Given the description of an element on the screen output the (x, y) to click on. 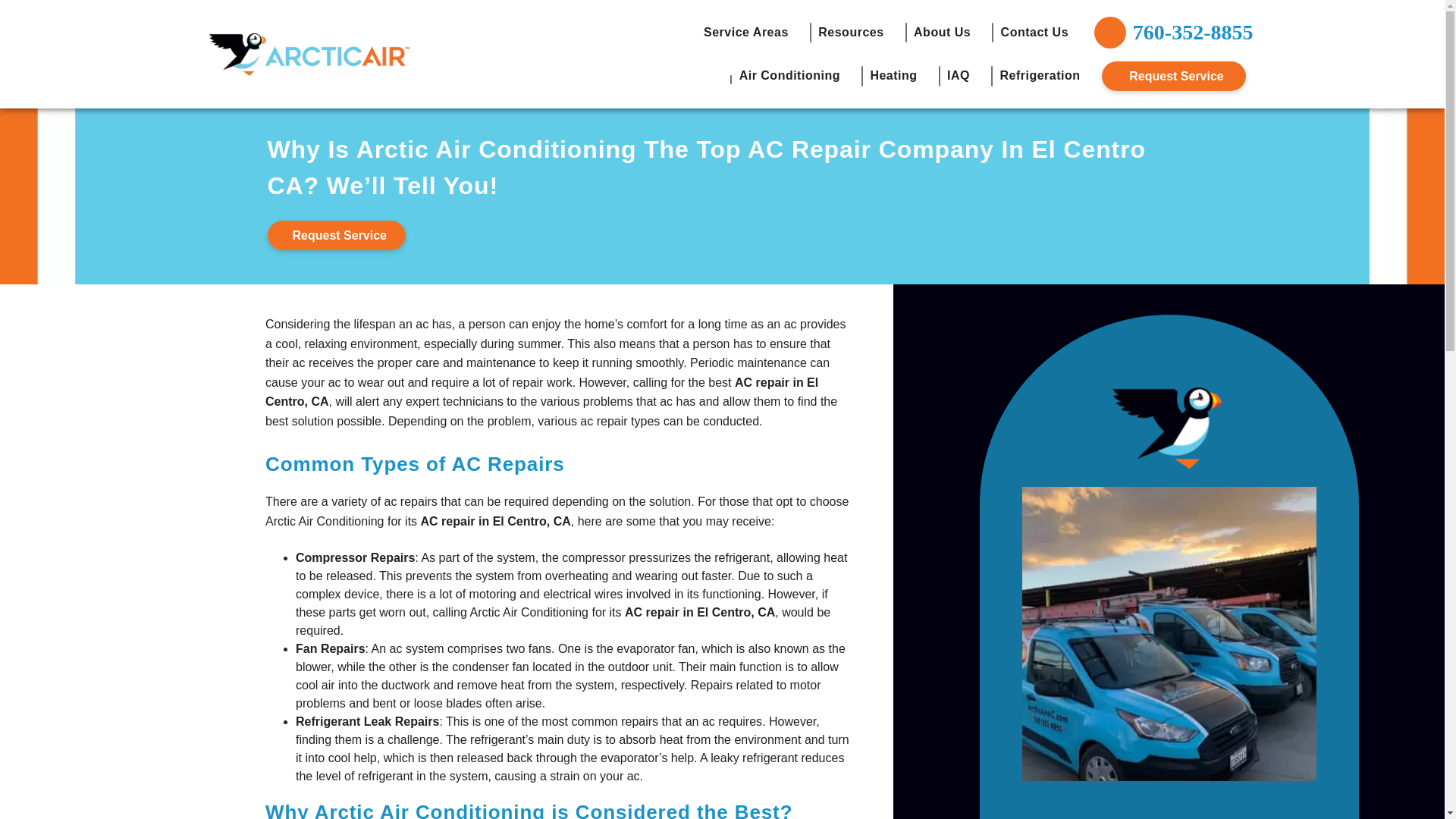
Request Service (1172, 75)
Contact Us (1033, 32)
Heating (898, 75)
Resources (856, 32)
Refrigeration (1039, 75)
IAQ (963, 75)
About Us (947, 32)
Service Areas (751, 32)
760-352-8855 (1164, 32)
Air Conditioning (795, 75)
